Given the description of an element on the screen output the (x, y) to click on. 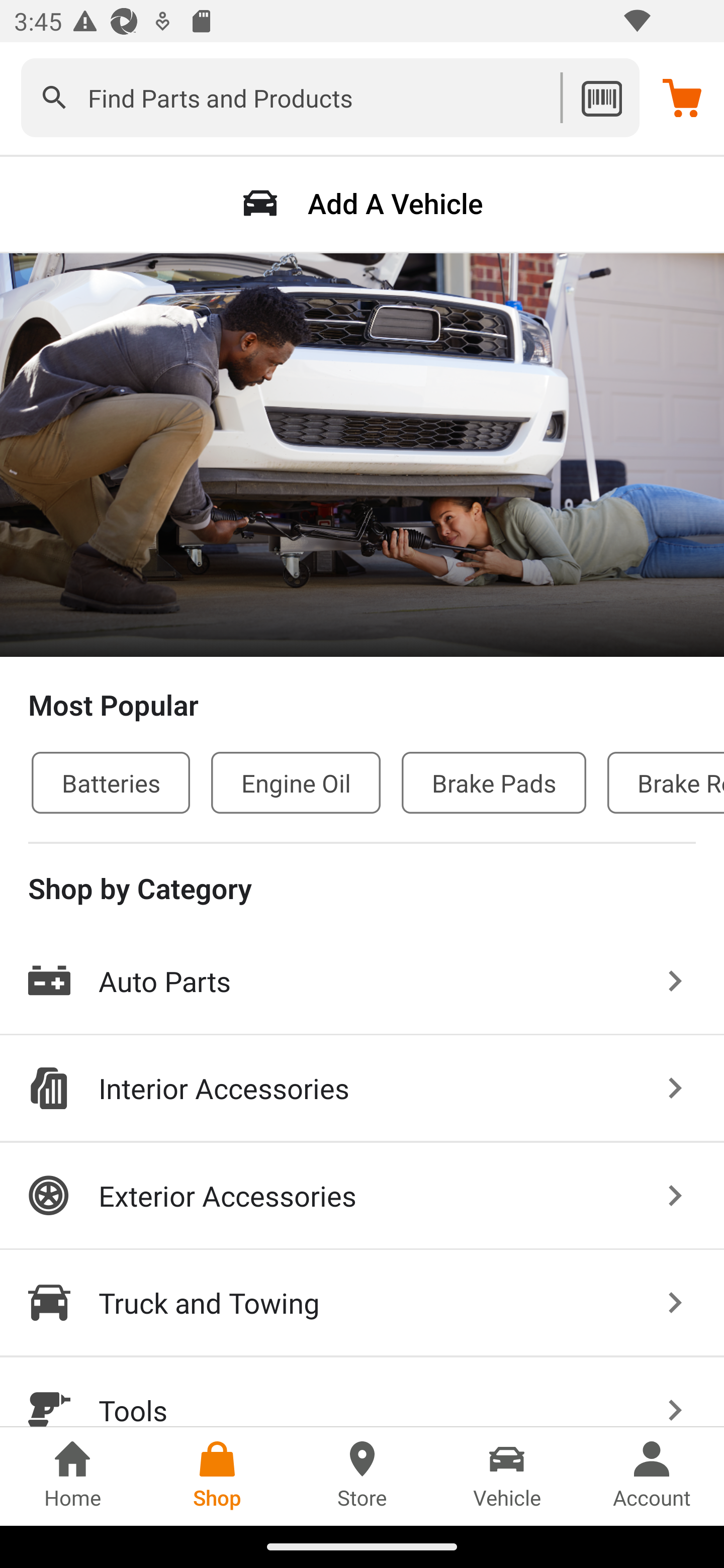
 scan-product-to-search  (601, 97)
 (54, 97)
Cart, no items  (681, 97)
add-vehicle-button  Add A Vehicle (362, 202)
Batteries (110, 782)
Engine Oil (295, 782)
Brake Pads (493, 782)
Brake Rotors (665, 782)
Auto Parts category  Auto Parts  (362, 981)
Truck and Towing category  Truck and Towing  (362, 1303)
Tools category  Tools  (362, 1391)
Home (72, 1475)
Shop (216, 1475)
Store (361, 1475)
Vehicle (506, 1475)
Account (651, 1475)
